Given the description of an element on the screen output the (x, y) to click on. 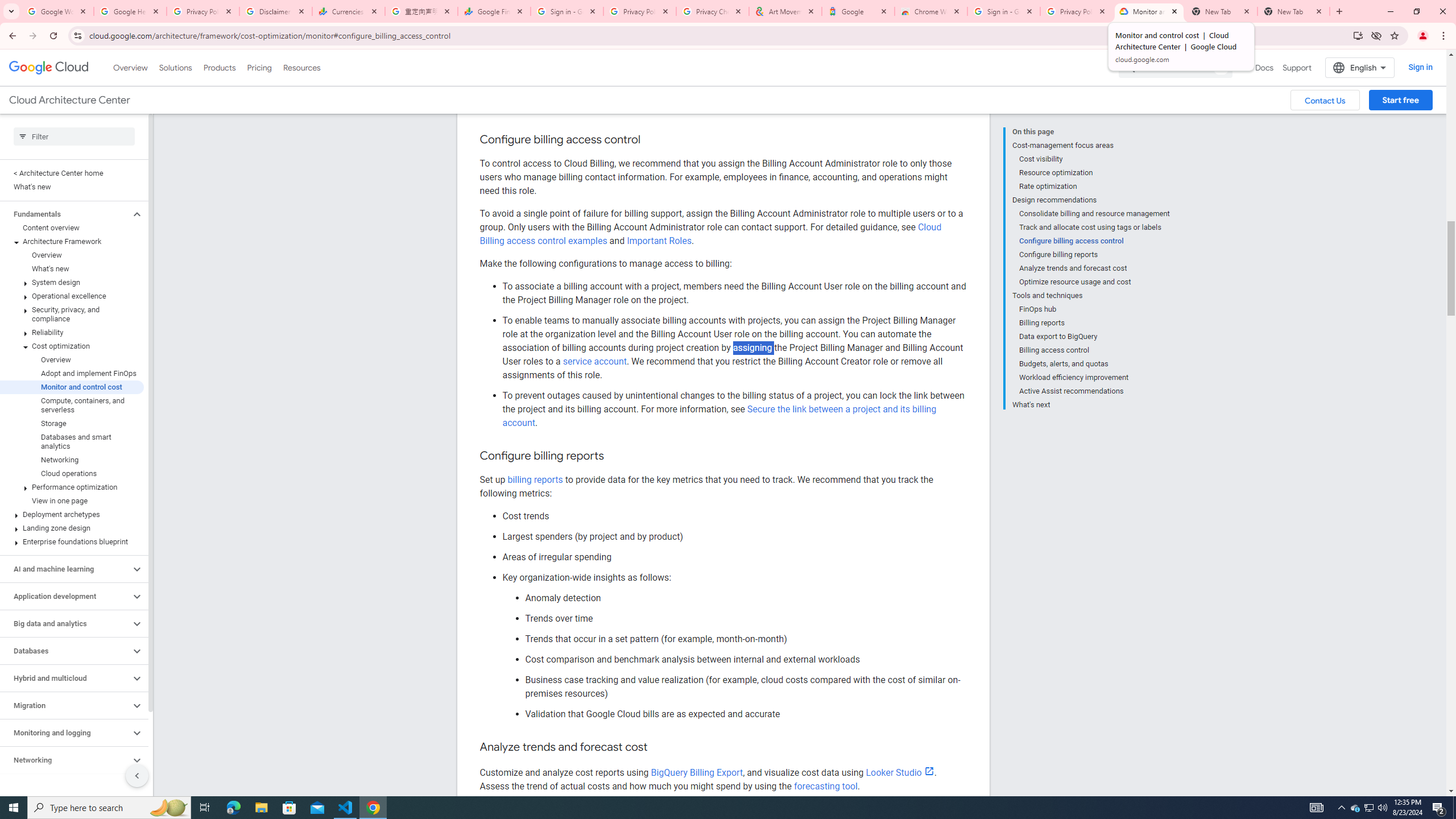
Sign in - Google Accounts (566, 11)
Copy link to this section: Configure billing access control (650, 139)
AI and machine learning (64, 568)
What's new (72, 269)
Cloud operations (72, 473)
Docs, selected (1264, 67)
Databases (64, 650)
FinOps hub (1094, 309)
forecasting tool (825, 785)
Billing access control (1094, 350)
Google Cloud (48, 67)
Monitoring and logging (64, 732)
Rate optimization (1094, 186)
Type to filter (74, 136)
